Given the description of an element on the screen output the (x, y) to click on. 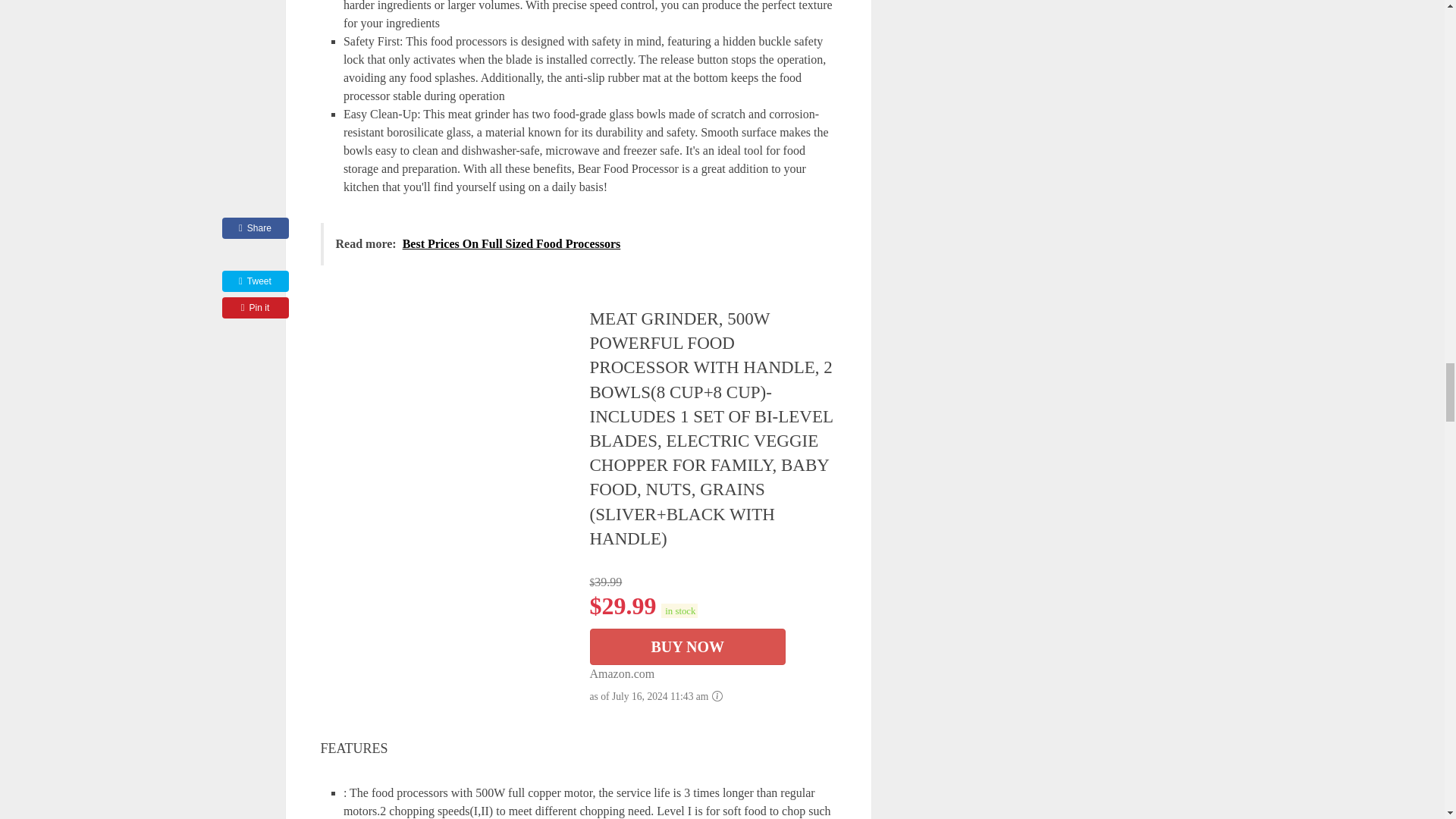
Last updated on July 16, 2024 11:43 am (679, 610)
